Given the description of an element on the screen output the (x, y) to click on. 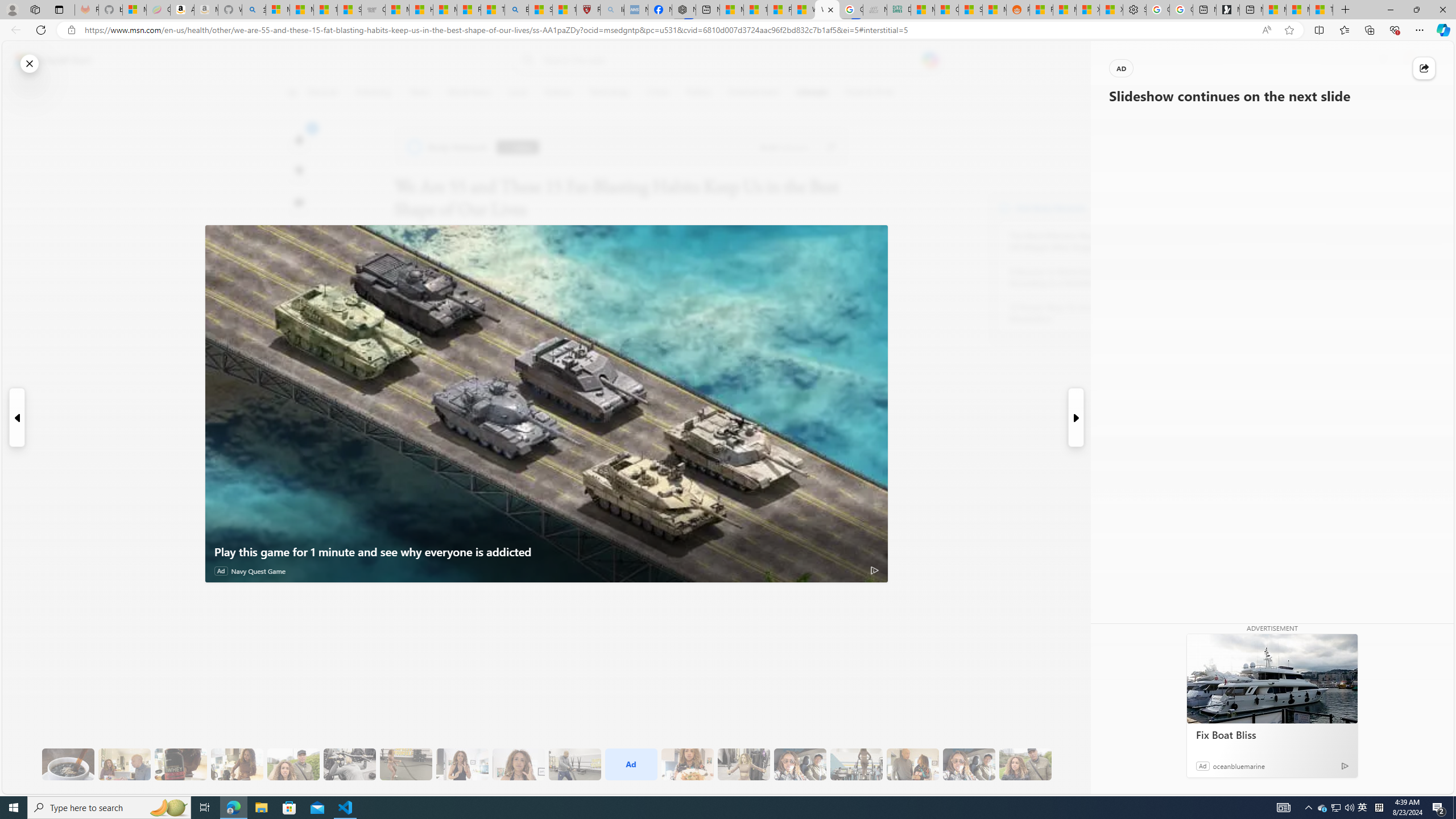
19 It Also Simplifies Thiings (968, 764)
8 Reasons to Drink Kombucha, According to a Nutritionist (1071, 277)
6 Since Eating More Protein Her Training Has Improved (180, 764)
